Given the description of an element on the screen output the (x, y) to click on. 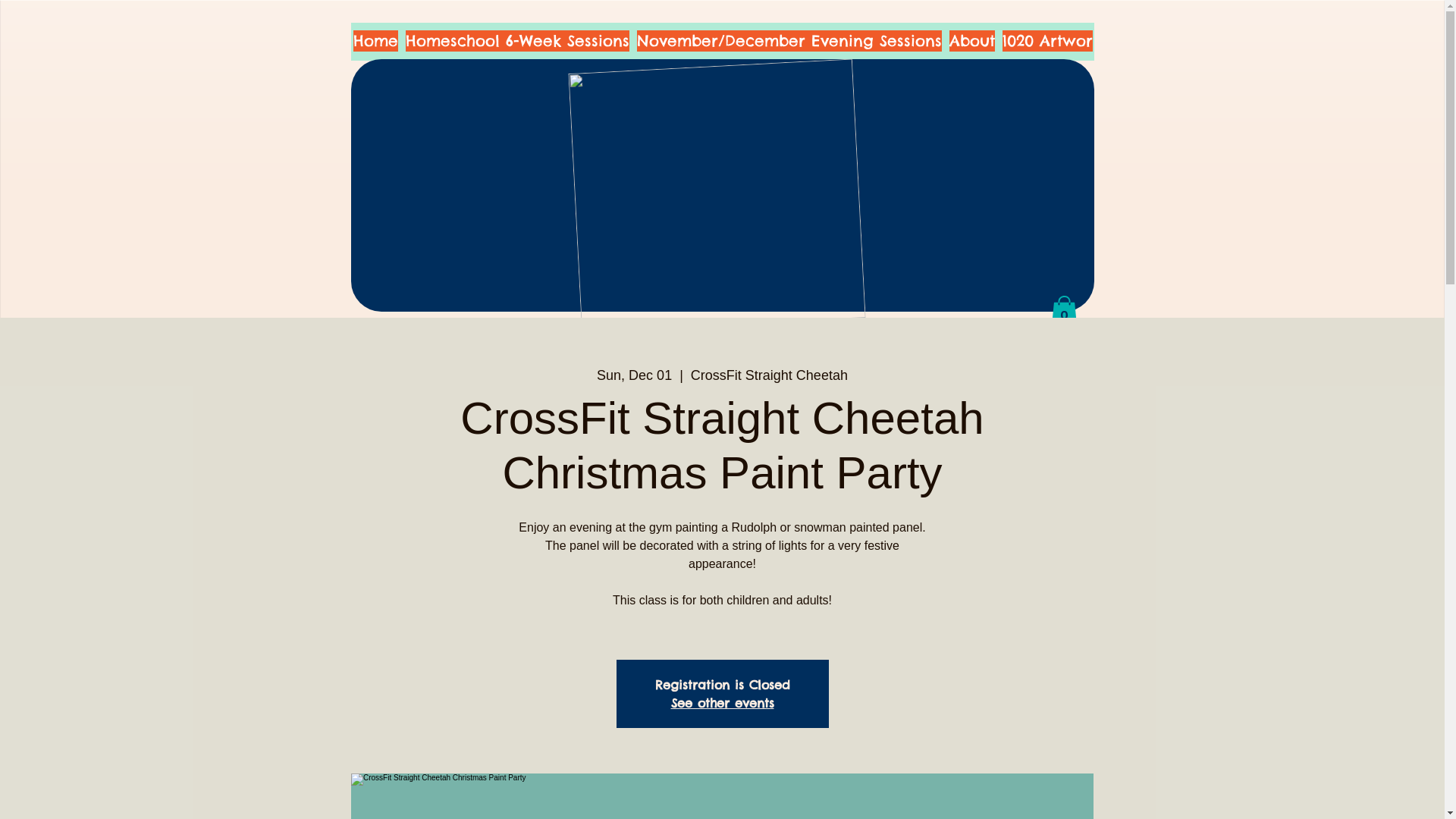
About Element type: text (971, 41)
See other events Element type: text (721, 702)
ARTWORKS LOGO1.png Element type: hover (709, 187)
Home Element type: text (375, 41)
1020 Artworks Studio Release Form Element type: text (1137, 41)
November/December Evening Sessions Element type: text (789, 41)
0 Element type: text (1064, 311)
Homeschool 6-Week Sessions Element type: text (516, 41)
